Given the description of an element on the screen output the (x, y) to click on. 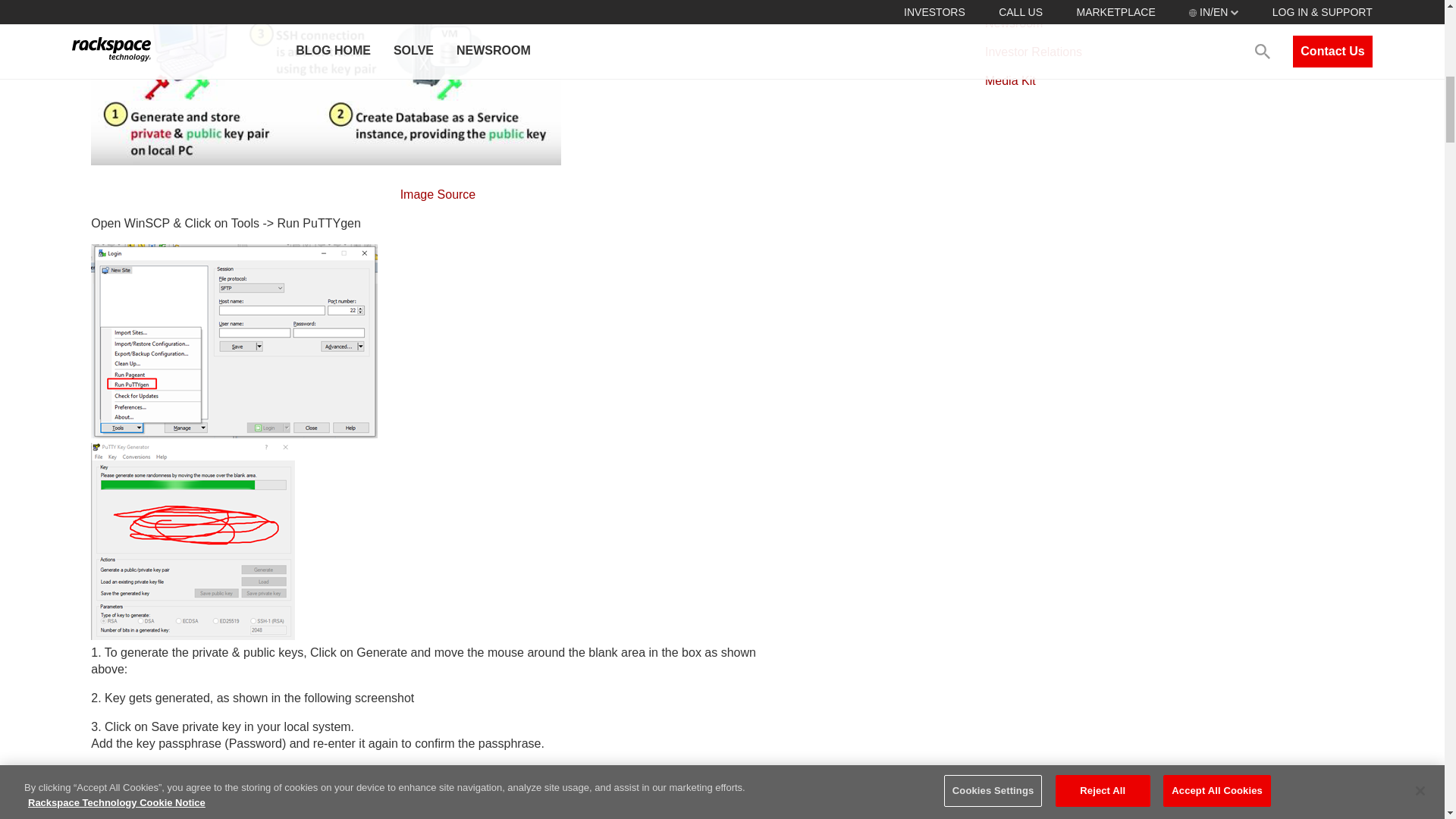
Media Kit (1010, 80)
Investor Relations (1033, 51)
Newsroom (1013, 22)
Image Source (438, 194)
